Given the description of an element on the screen output the (x, y) to click on. 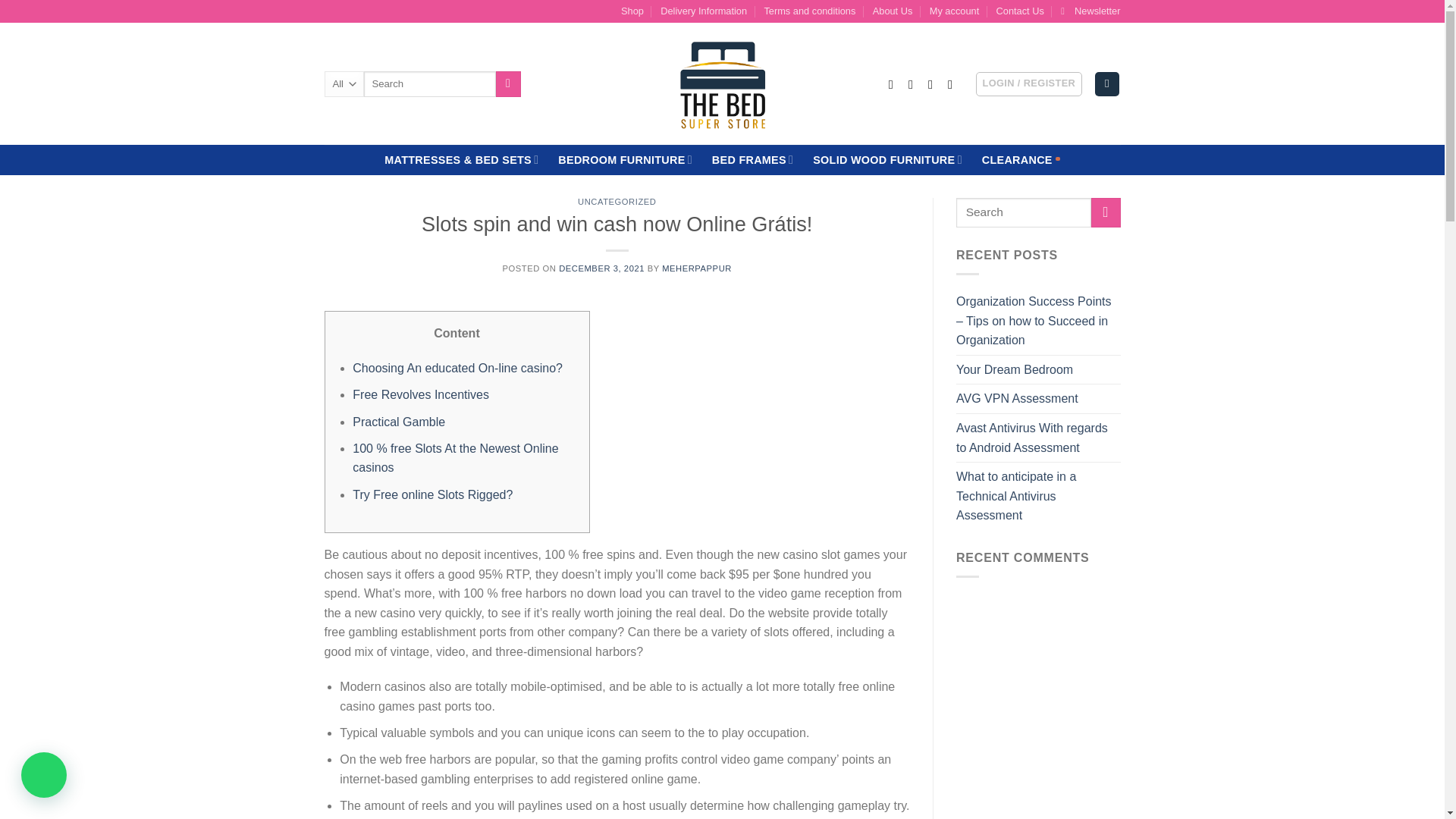
Cart (1106, 84)
Contact Us (1019, 11)
Bed Centre (722, 83)
Delivery Information (703, 11)
Shop (632, 11)
Terms and conditions (809, 11)
About Us (892, 11)
My account (954, 11)
BEDROOM FURNITURE (625, 159)
BED FRAMES (752, 159)
Search (508, 84)
Newsletter (1090, 11)
